Given the description of an element on the screen output the (x, y) to click on. 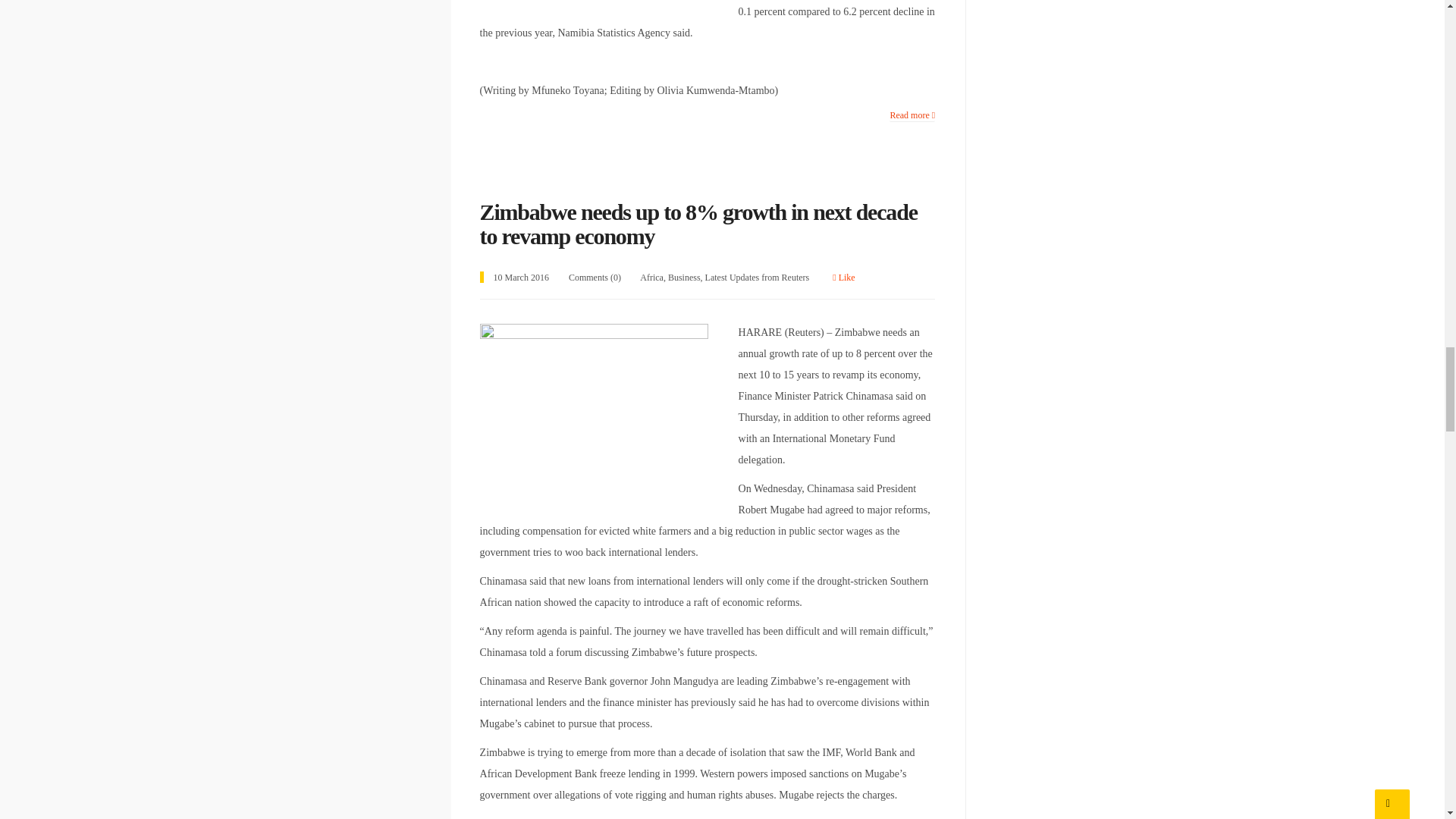
Read more (911, 115)
Like (843, 276)
